Given the description of an element on the screen output the (x, y) to click on. 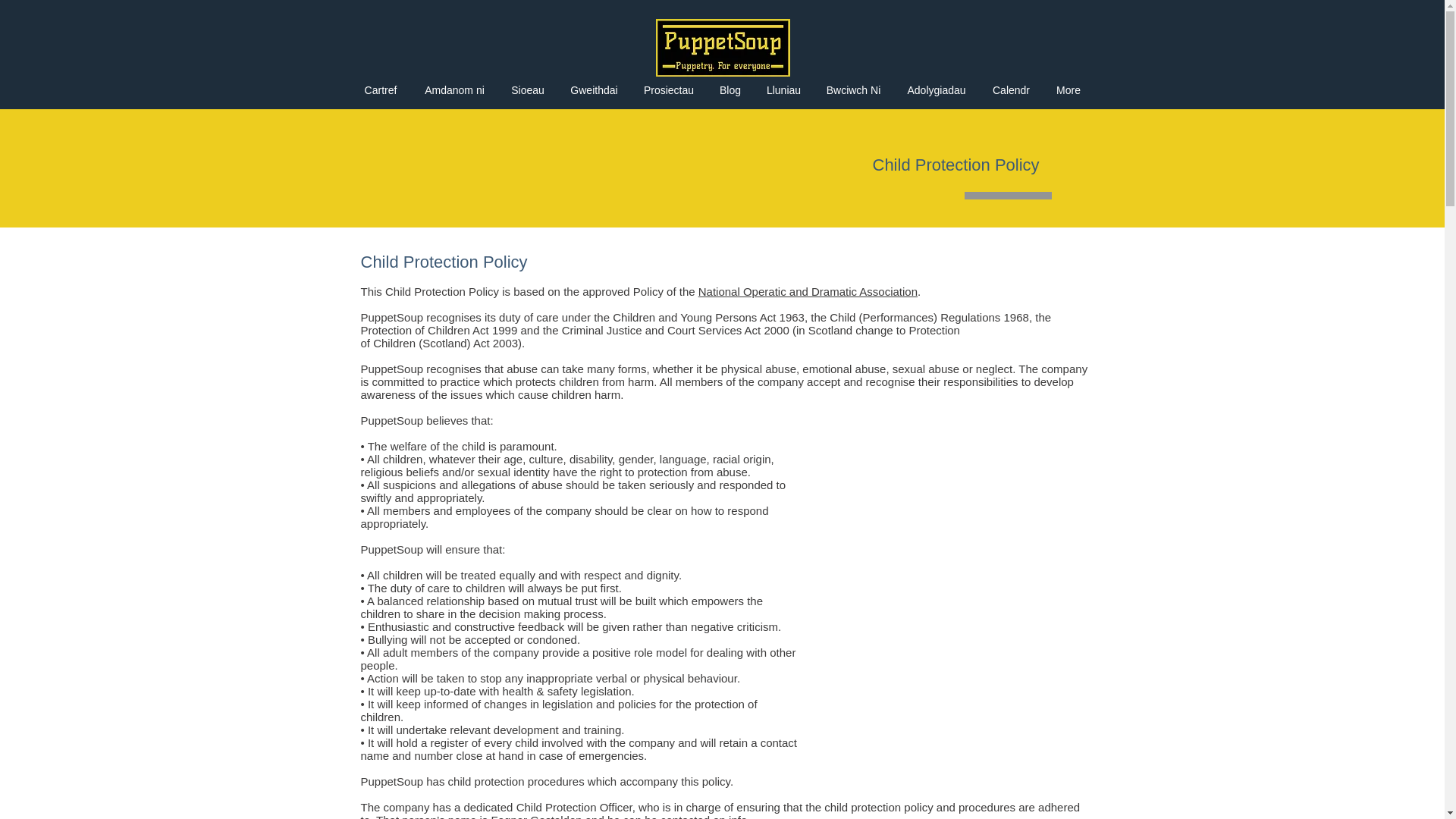
Gweithdai (593, 89)
National Operatic and Dramatic Association (807, 291)
Adolygiadau (935, 89)
Prosiectau (668, 89)
Bwciwch Ni (852, 89)
Sioeau (528, 89)
Lluniau (783, 89)
Amdanom ni (454, 89)
Blog (730, 89)
Cartref (380, 89)
Calendr (1011, 89)
